Given the description of an element on the screen output the (x, y) to click on. 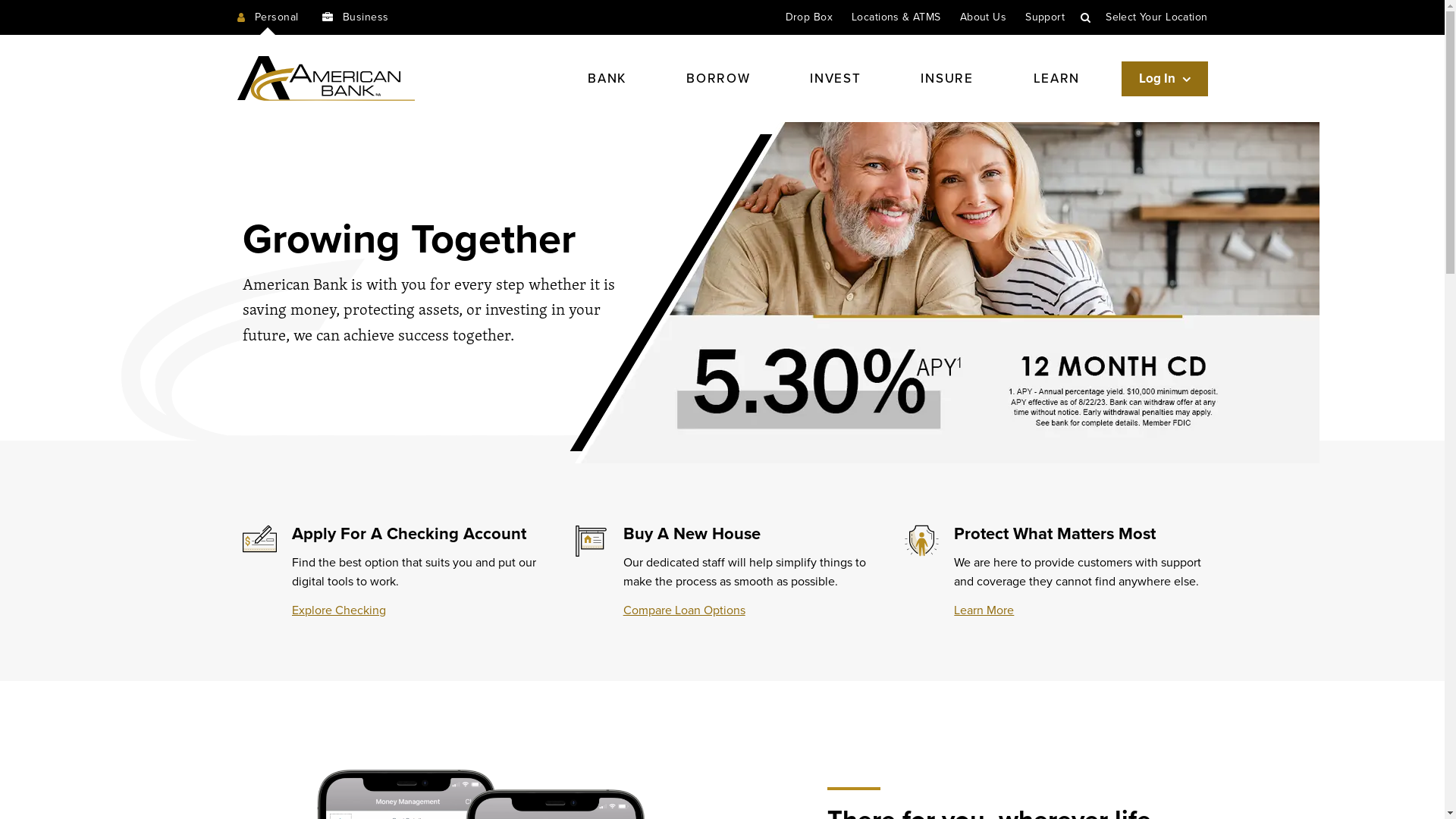
About Us Element type: text (983, 16)
Log In Element type: text (1164, 78)
Protect What Matters Most Element type: text (1054, 533)
Compare Loan Options
Learn More about Buy A New House Element type: text (684, 610)
Support Element type: text (1044, 16)
Buy A New House Element type: text (691, 533)
INVEST Element type: text (835, 78)
Select Your Location Element type: text (1156, 16)
Apply For A Checking Account Element type: text (408, 533)
Drop Box Element type: text (808, 16)
Locations & ATMS Element type: text (896, 16)
Personal Element type: text (267, 17)
Learn More
Learn More about Protect What Matters Most Element type: text (983, 610)
Business Element type: text (354, 17)
INSURE Element type: text (946, 78)
BANK Element type: text (606, 78)
LEARN Element type: text (1056, 78)
BORROW Element type: text (717, 78)
